Given the description of an element on the screen output the (x, y) to click on. 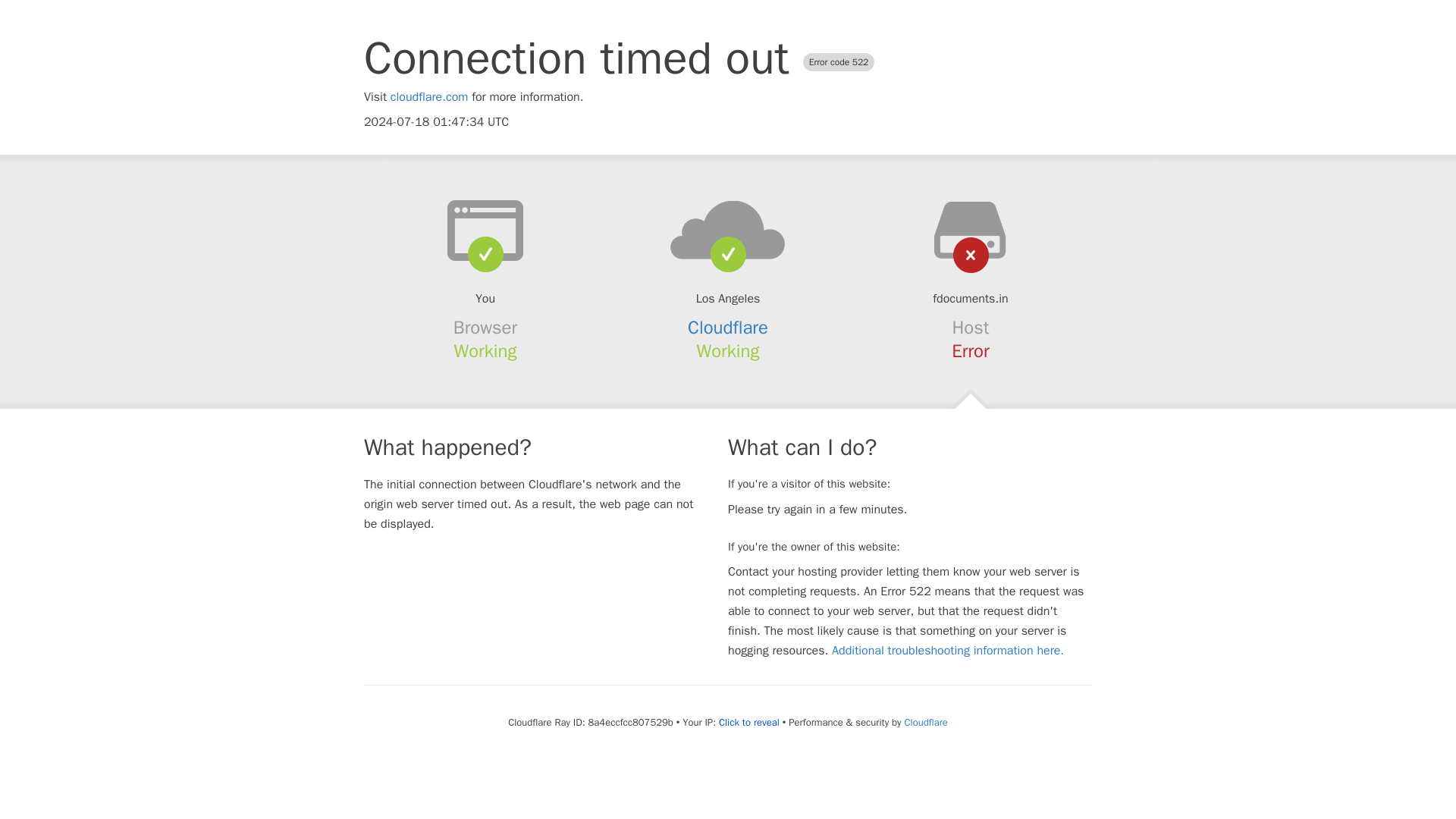
Click to reveal (748, 722)
cloudflare.com (429, 96)
Cloudflare (727, 327)
Cloudflare (925, 721)
Additional troubleshooting information here. (947, 650)
